Given the description of an element on the screen output the (x, y) to click on. 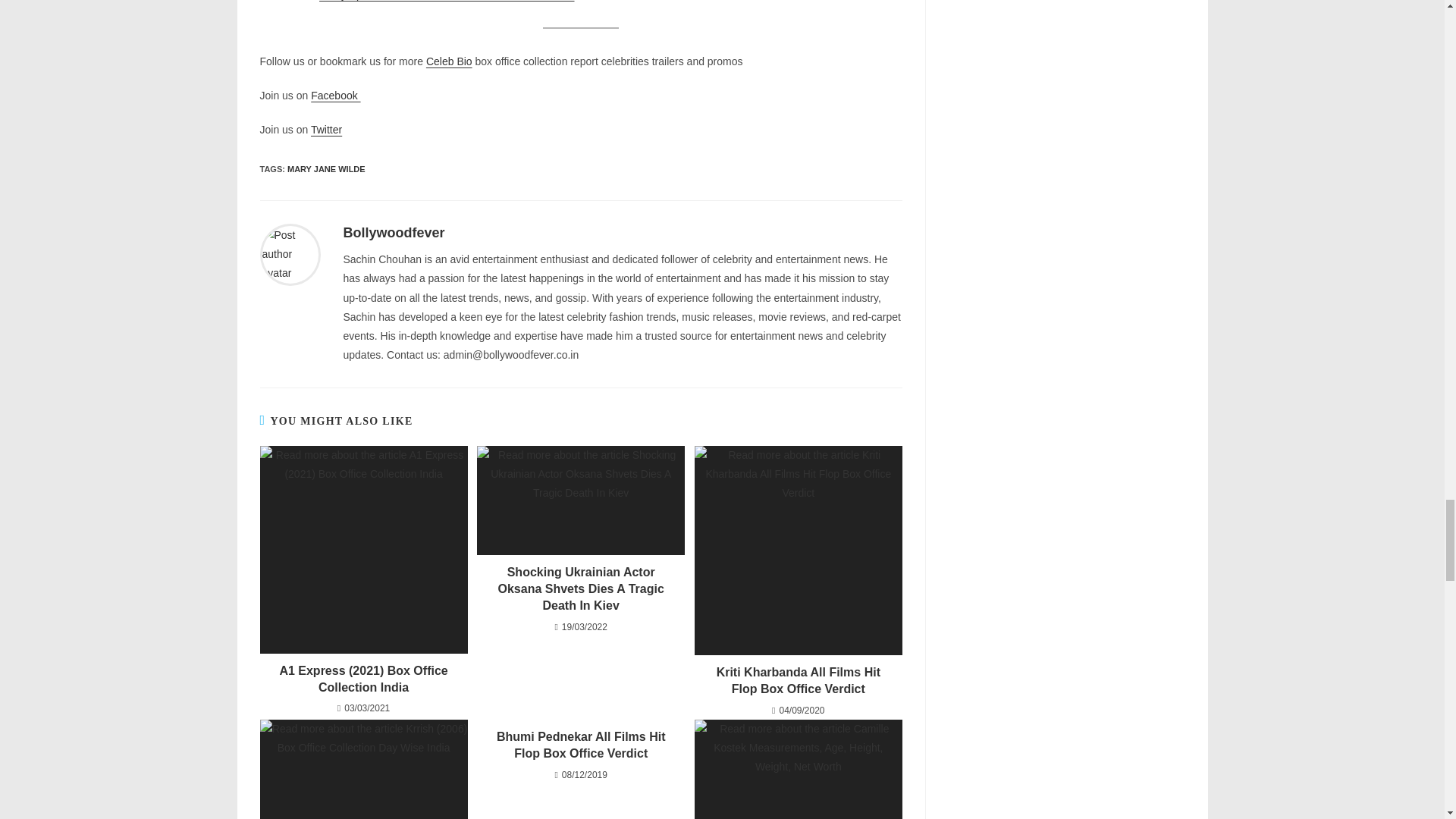
Visit author page (289, 254)
Visit author page (393, 232)
